Given the description of an element on the screen output the (x, y) to click on. 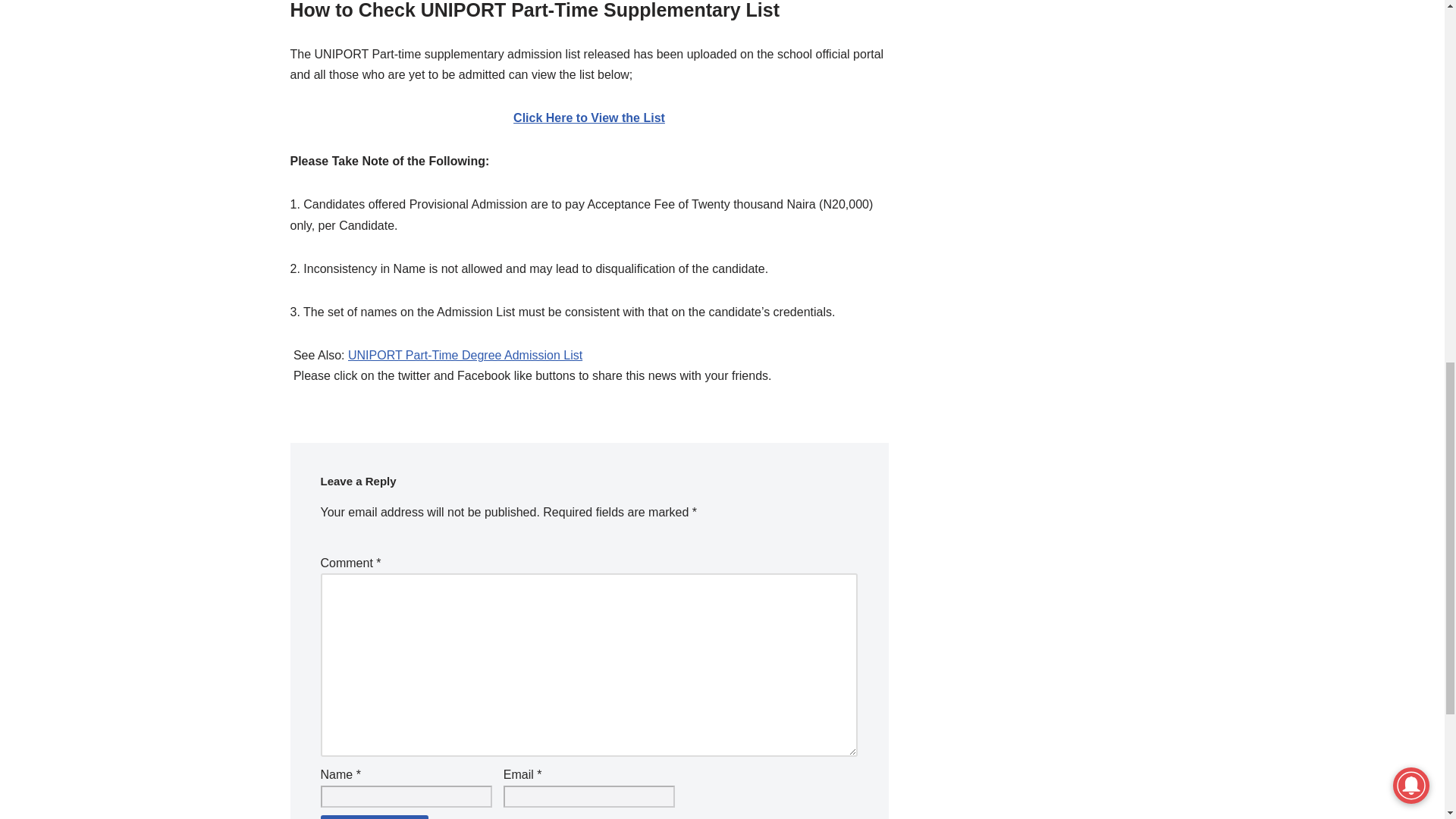
Post Comment (374, 816)
